Given the description of an element on the screen output the (x, y) to click on. 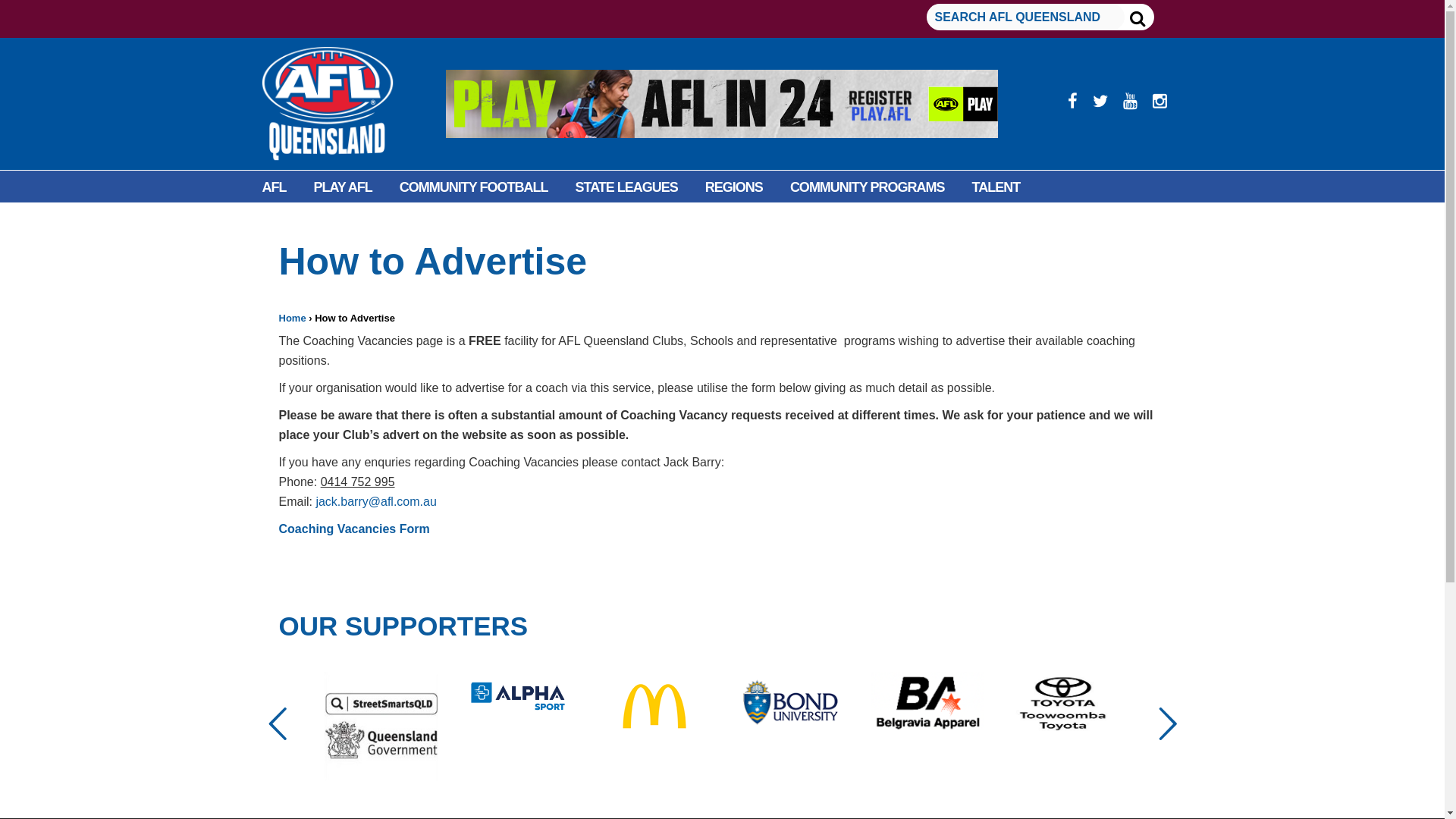
COMMUNITY PROGRAMS (867, 187)
TALENT (995, 187)
PLAY AFL (342, 187)
COMMUNITY FOOTBALL (473, 187)
REGIONS (733, 187)
AFL (273, 187)
FACILITIES (295, 221)
INFORMATION HUB (414, 221)
STATE LEAGUES (626, 187)
